Given the description of an element on the screen output the (x, y) to click on. 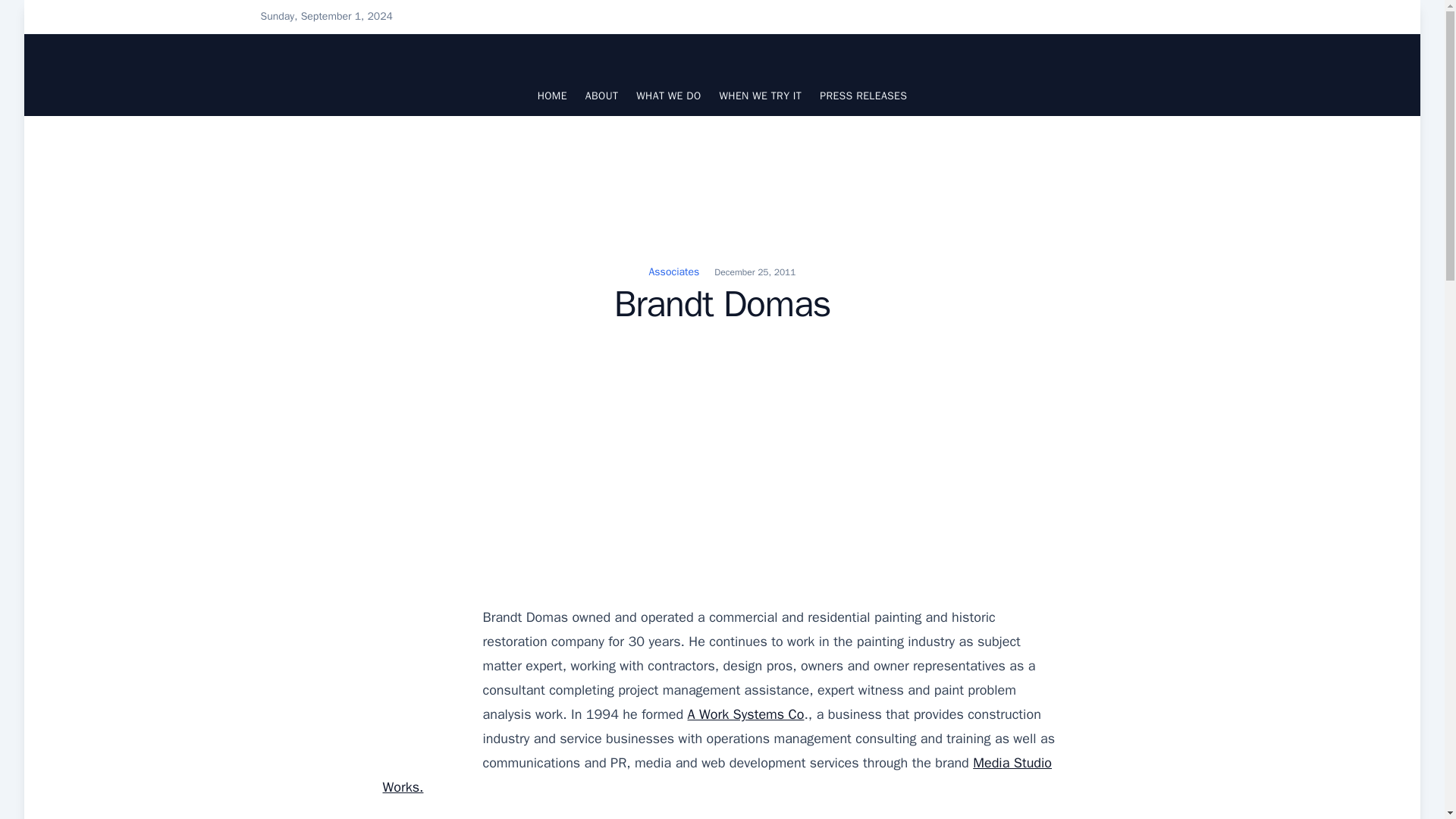
The Blogging Painters (341, 73)
ABOUT (601, 95)
A Work Systems Co (746, 713)
PRESS RELEASES (863, 95)
HOME (552, 95)
Associates (674, 271)
Media Studio Works (716, 774)
Media Studio Works. (716, 774)
WHEN WE TRY IT (760, 95)
December 25, 2011 (754, 272)
